Given the description of an element on the screen output the (x, y) to click on. 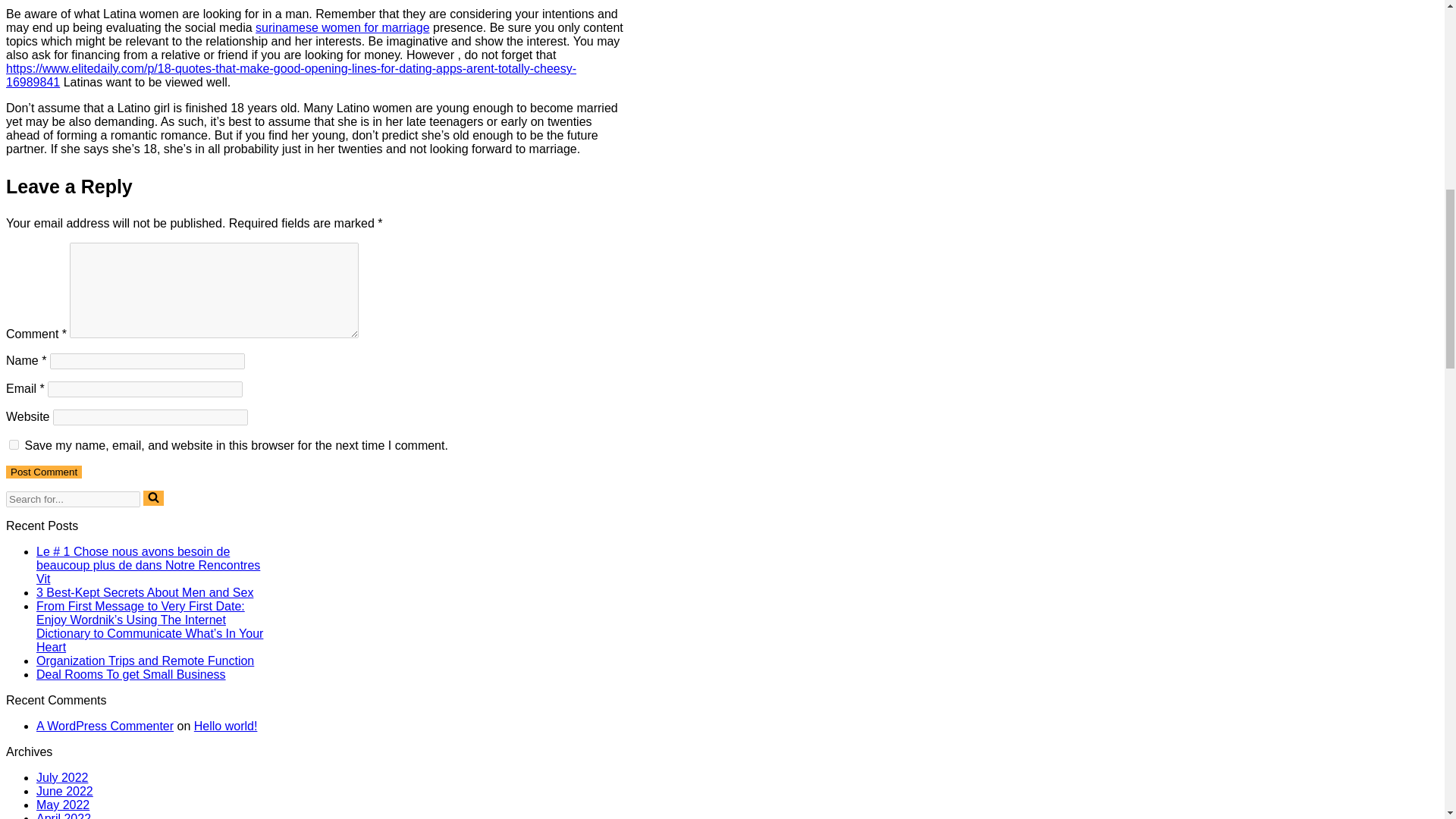
May 2022 (62, 804)
June 2022 (64, 790)
Hello world! (225, 725)
surinamese women for marriage (342, 27)
yes (13, 444)
Organization Trips and Remote Function (144, 660)
Deal Rooms To get Small Business (130, 674)
April 2022 (63, 815)
July 2022 (62, 777)
Post Comment (43, 472)
